Given the description of an element on the screen output the (x, y) to click on. 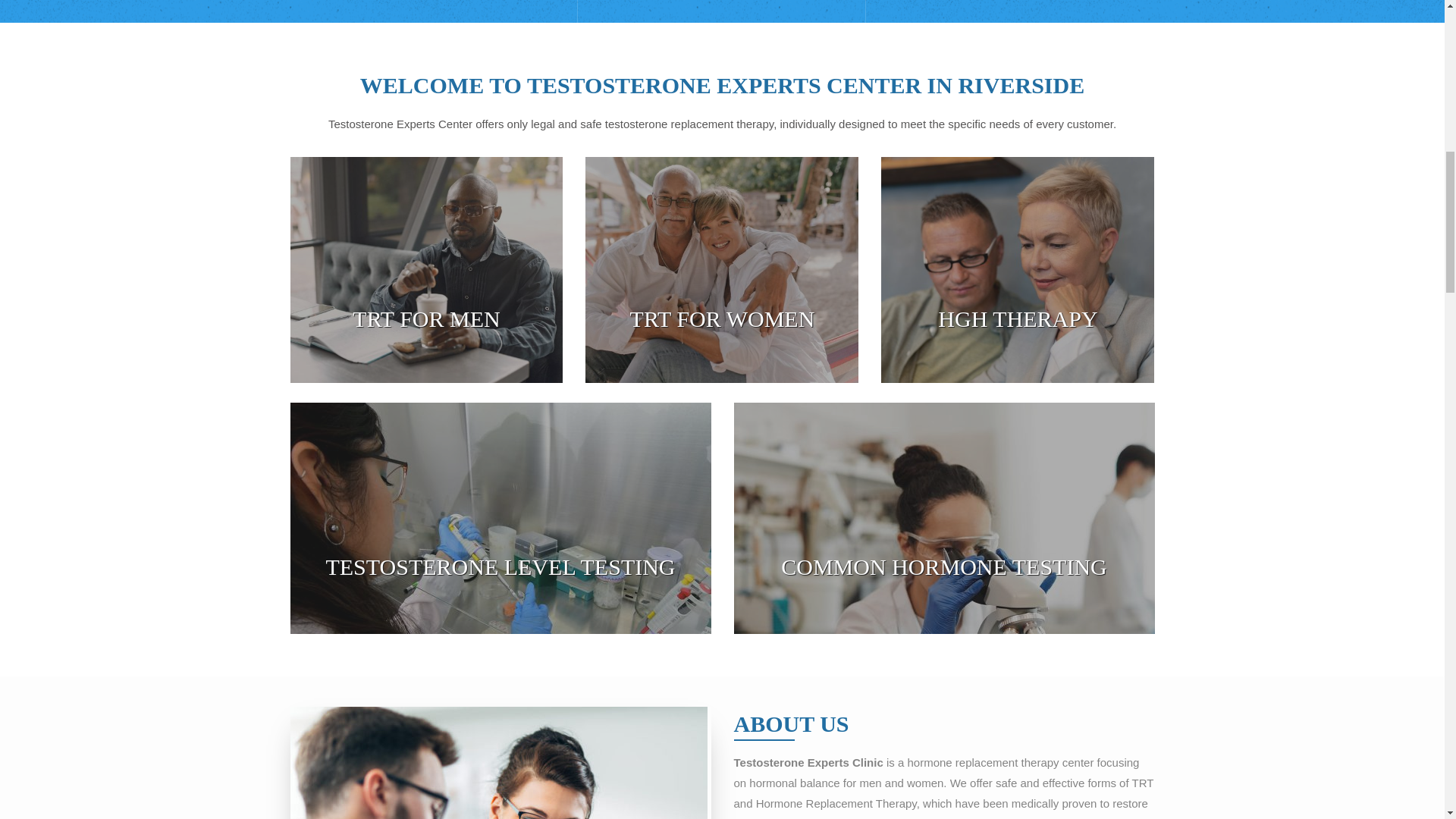
TRT FOR MEN (425, 318)
TESTOSTERONE LEVEL TESTING (499, 566)
TRT FOR WOMEN (722, 318)
HGH THERAPY (1017, 318)
COMMON HORMONE TESTING (943, 566)
